Given the description of an element on the screen output the (x, y) to click on. 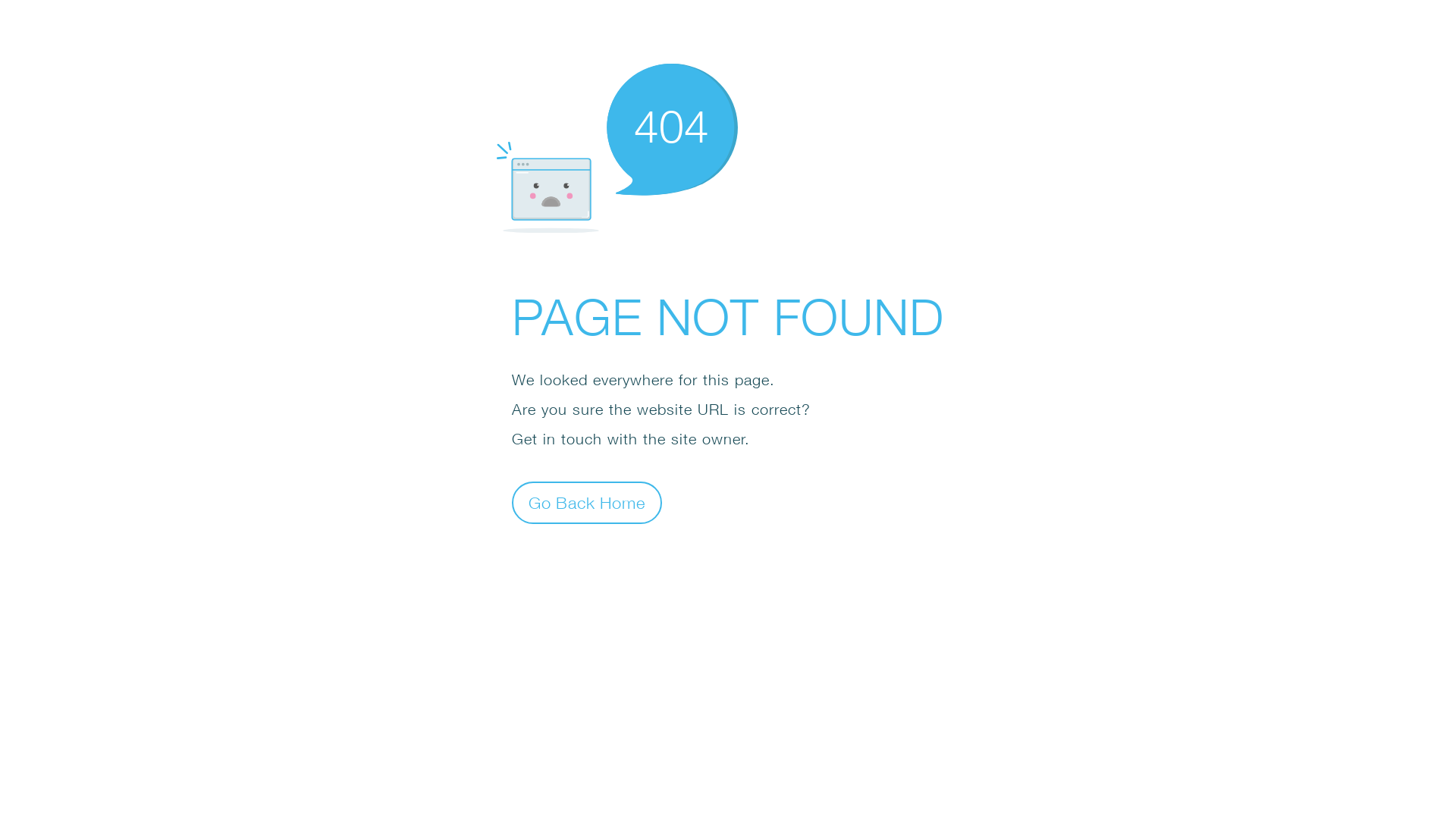
Go Back Home Element type: text (586, 502)
